Given the description of an element on the screen output the (x, y) to click on. 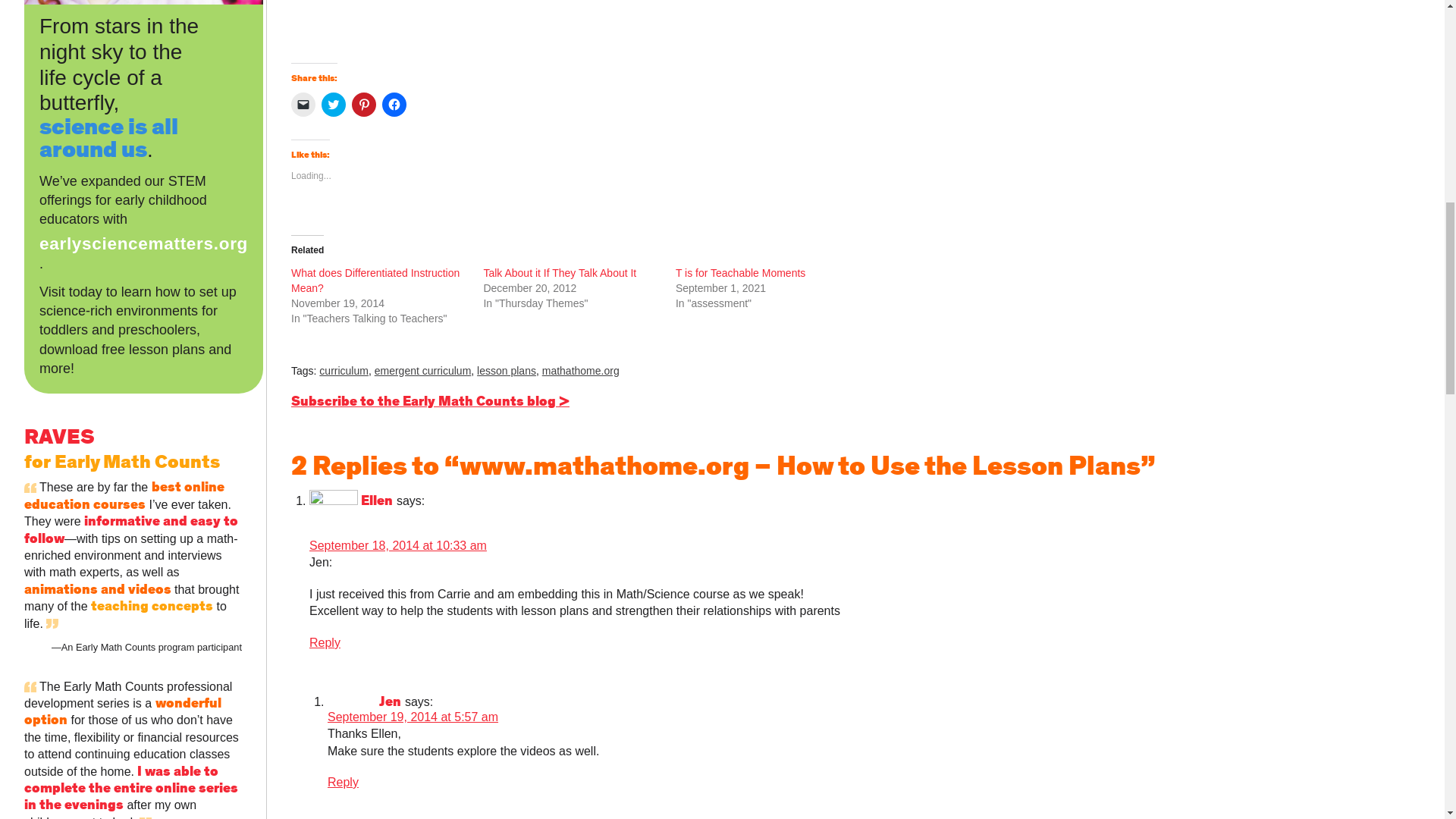
lessonplanner (347, 25)
Click to share on Pinterest (363, 104)
Talk About it If They Talk About It (559, 272)
What does Differentiated Instruction Mean? (375, 280)
T is for Teachable Moments (740, 272)
Click to share on Twitter (333, 104)
Click to email a link to a friend (303, 104)
Click to share on Facebook (393, 104)
